Given the description of an element on the screen output the (x, y) to click on. 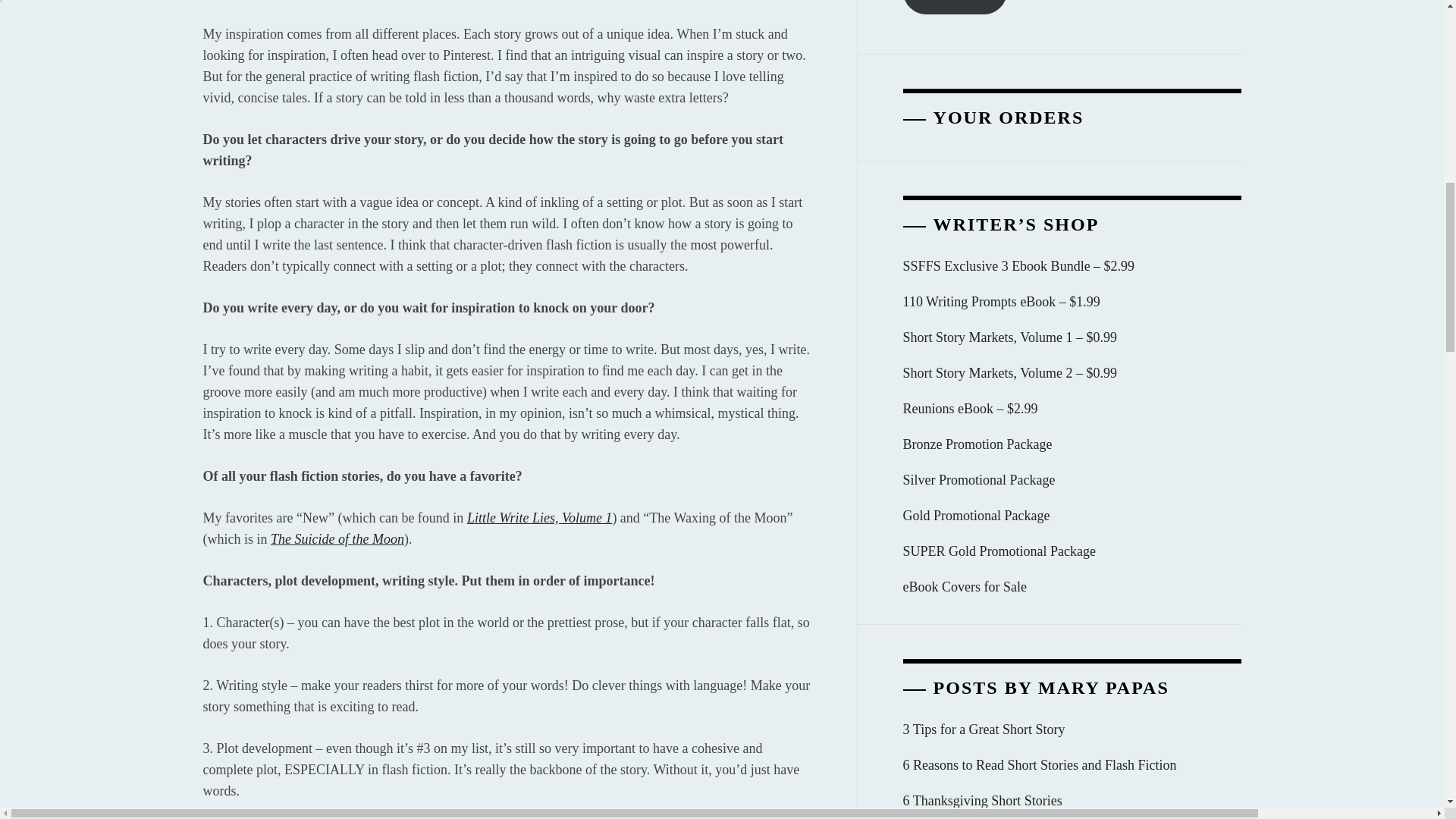
Little Write Lies, Volume 1 (539, 517)
The Suicide of the Moon (337, 539)
